Given the description of an element on the screen output the (x, y) to click on. 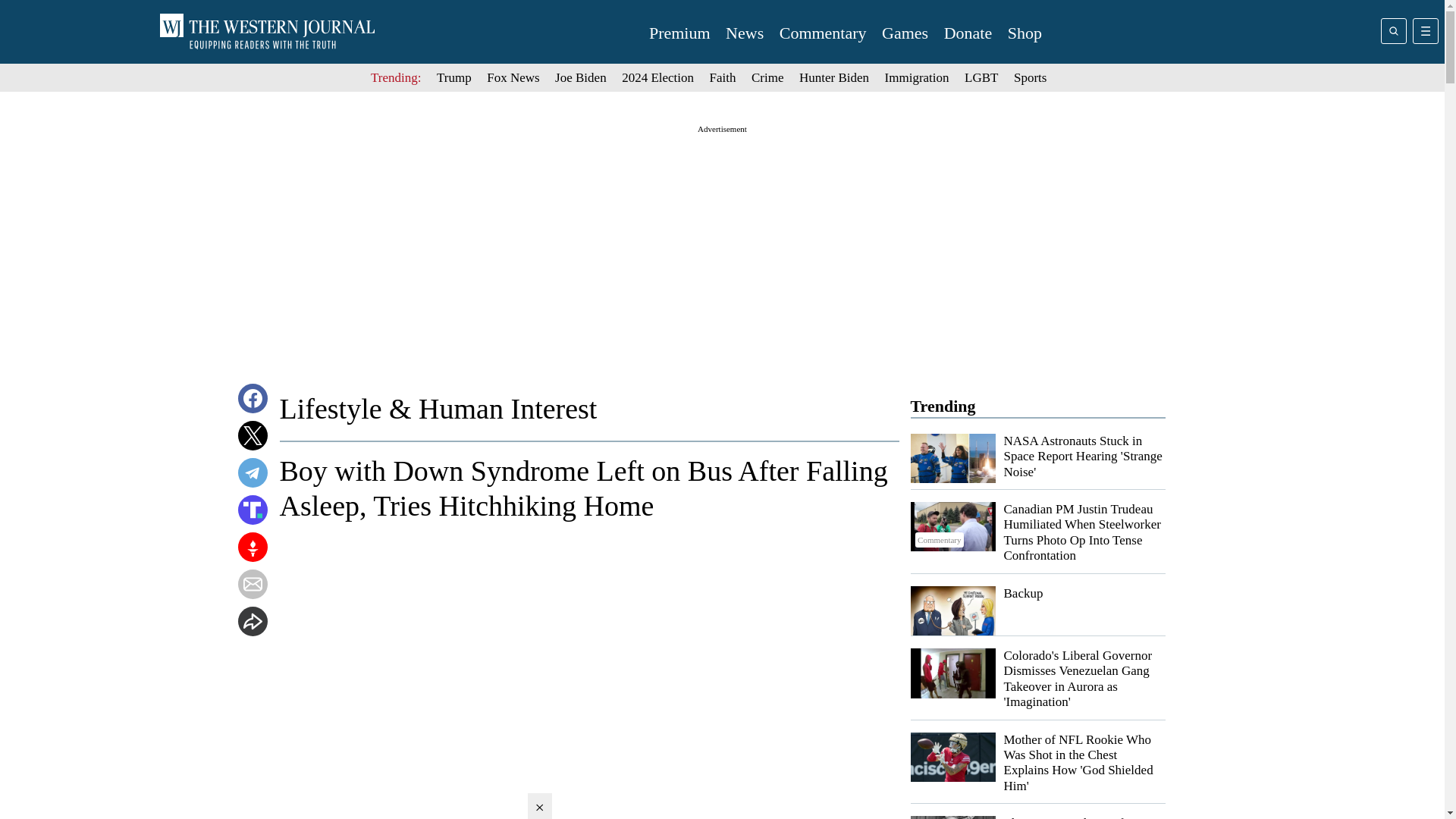
Sports (1029, 77)
Premium (679, 32)
Joe Biden (580, 77)
Immigration (917, 77)
Fox News (512, 77)
Games (905, 32)
2024 Election (657, 77)
News (743, 32)
Commentary (822, 32)
